Given the description of an element on the screen output the (x, y) to click on. 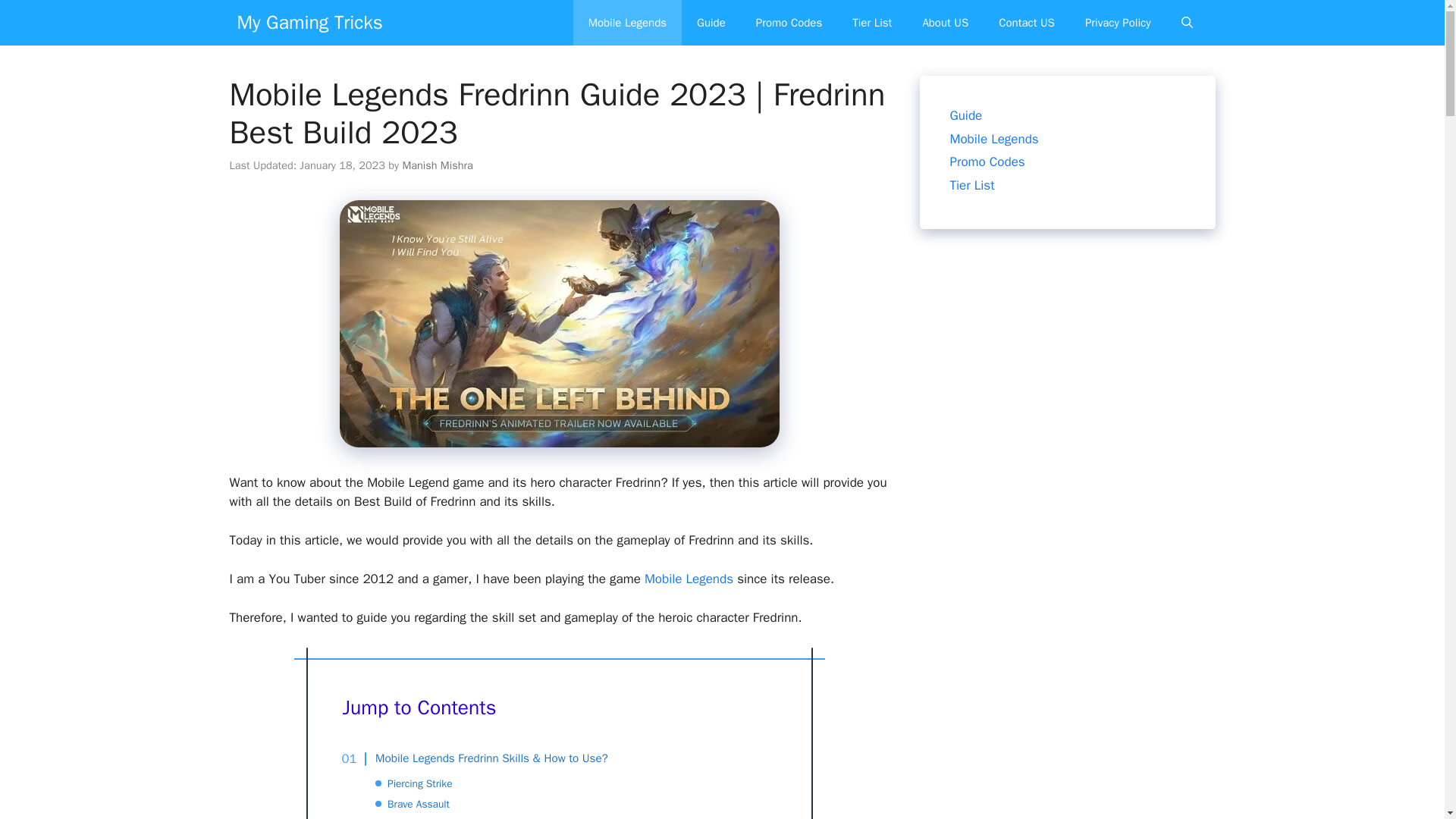
Mobile Legends (689, 578)
Guide (711, 22)
Mobile Legends (993, 138)
Tier List (872, 22)
Piercing Strike (419, 783)
My Gaming Tricks (308, 22)
Brave Assault (418, 804)
Contact US (1027, 22)
Mobile Legends (627, 22)
Promo Codes (789, 22)
